Given the description of an element on the screen output the (x, y) to click on. 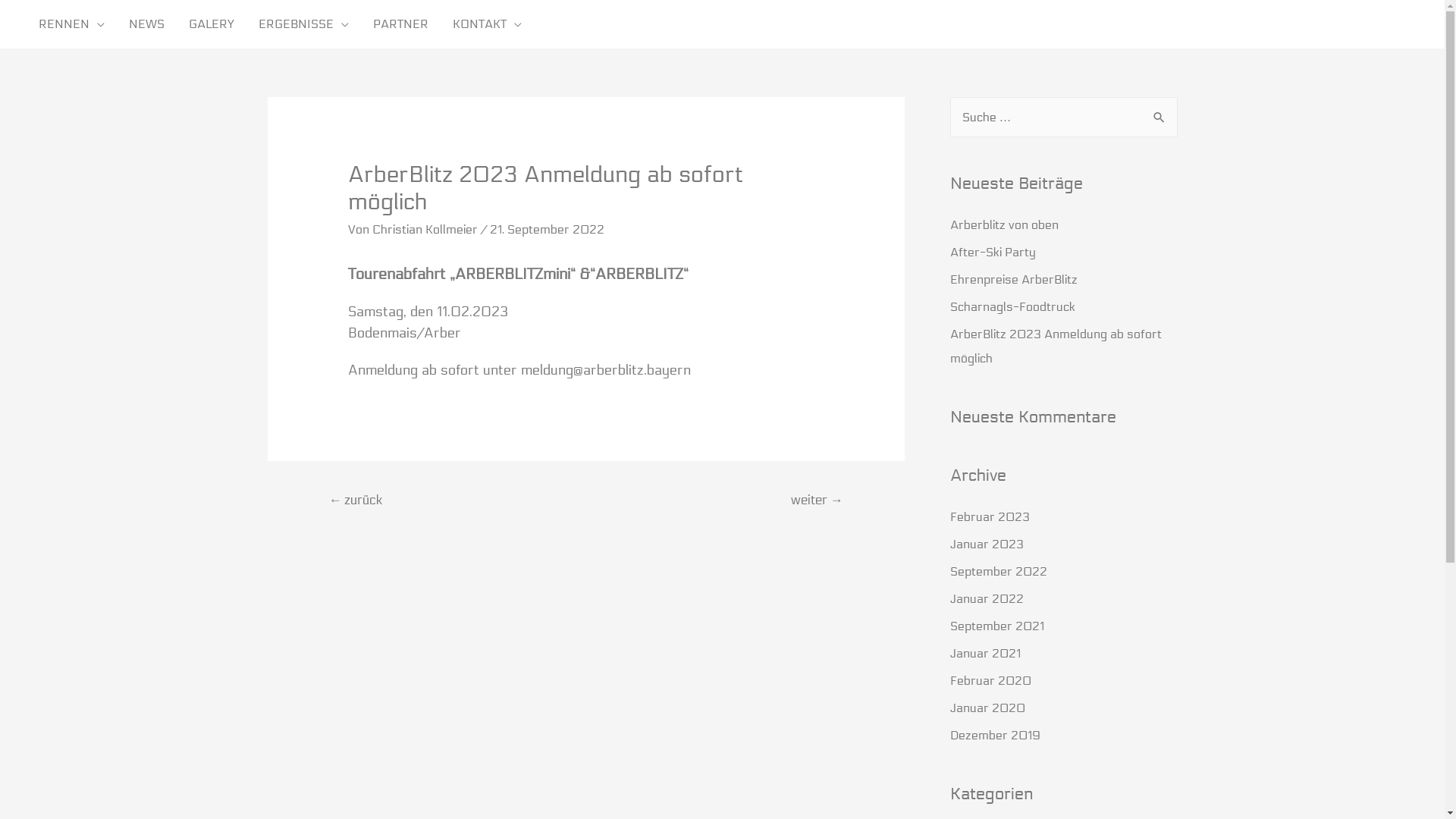
Januar 2022 Element type: text (985, 598)
Arberblitz von oben Element type: text (1003, 224)
Februar 2023 Element type: text (989, 516)
Ehrenpreise ArberBlitz Element type: text (1012, 279)
KONTAKT Element type: text (486, 24)
Scharnagls-Foodtruck Element type: text (1011, 306)
September 2021 Element type: text (996, 625)
Januar 2021 Element type: text (984, 653)
GALERY Element type: text (211, 24)
Februar 2020 Element type: text (989, 680)
September 2022 Element type: text (997, 571)
Januar 2023 Element type: text (985, 543)
ERGEBNISSE Element type: text (303, 24)
Januar 2020 Element type: text (986, 707)
meldung@arberblitz.bayern Element type: text (605, 369)
Christian Kollmeier Element type: text (426, 229)
PARTNER Element type: text (400, 24)
After-Ski Party Element type: text (992, 251)
Dezember 2019 Element type: text (994, 735)
RENNEN Element type: text (71, 24)
NEWS Element type: text (146, 24)
Suche Element type: text (1160, 118)
